Given the description of an element on the screen output the (x, y) to click on. 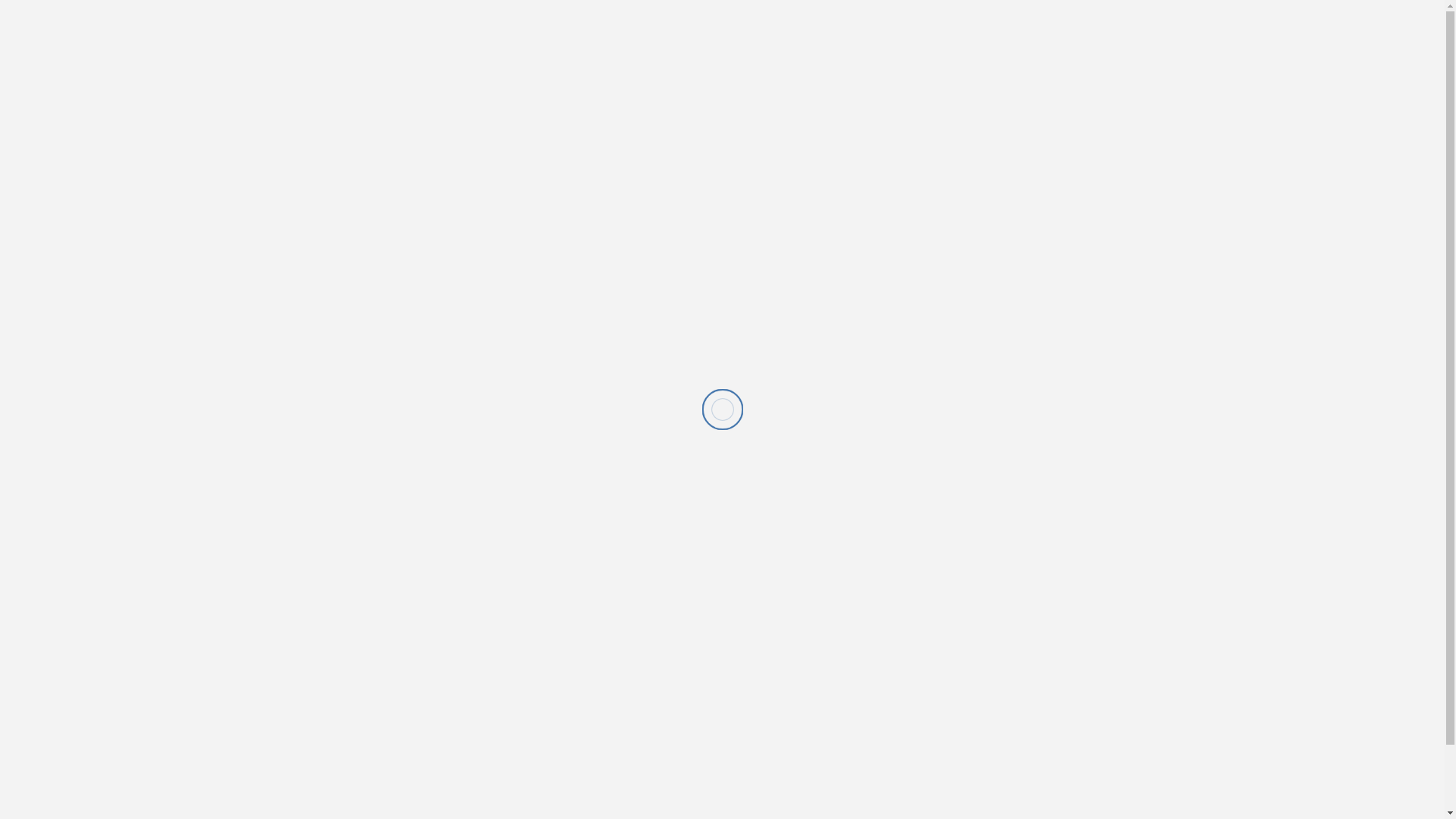
BUY AT DYNADOT.COM Element type: text (391, 524)
